Given the description of an element on the screen output the (x, y) to click on. 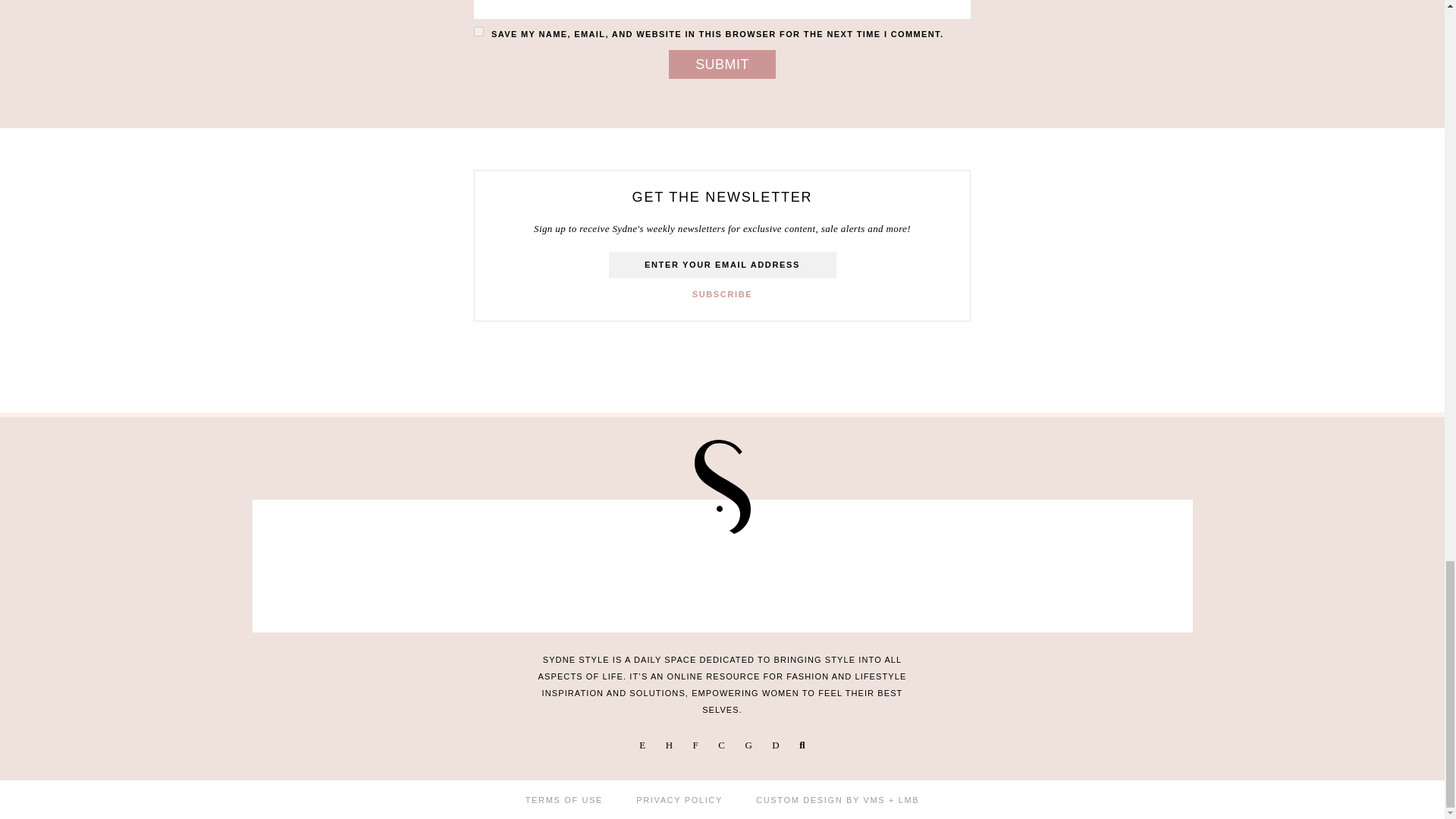
yes (478, 31)
Submit (722, 63)
Subscribe (722, 294)
